Given the description of an element on the screen output the (x, y) to click on. 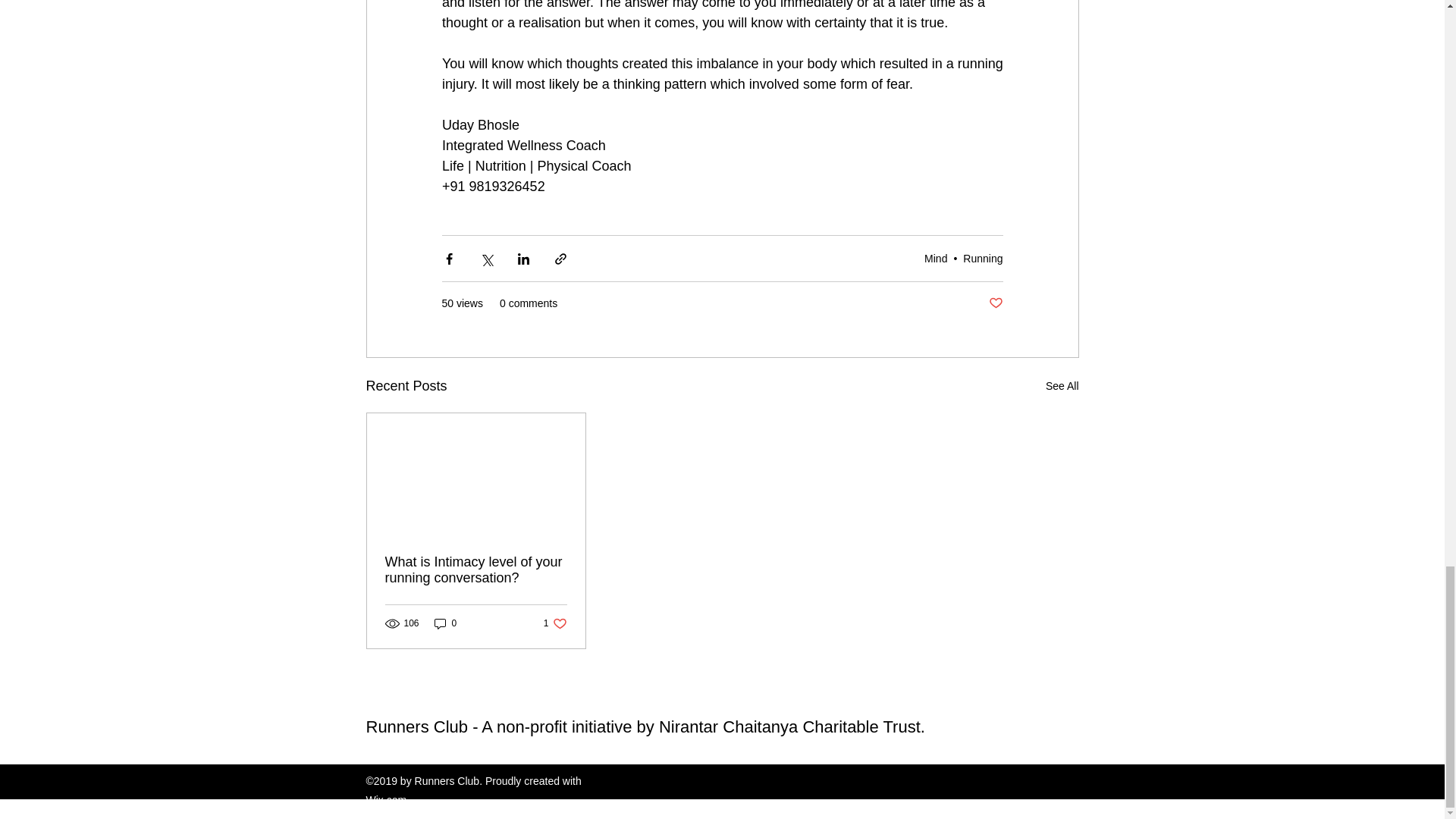
Post not marked as liked (995, 303)
What is Intimacy level of your running conversation? (476, 570)
Mind (935, 258)
See All (1061, 386)
0 (445, 623)
Running (982, 258)
